Given the description of an element on the screen output the (x, y) to click on. 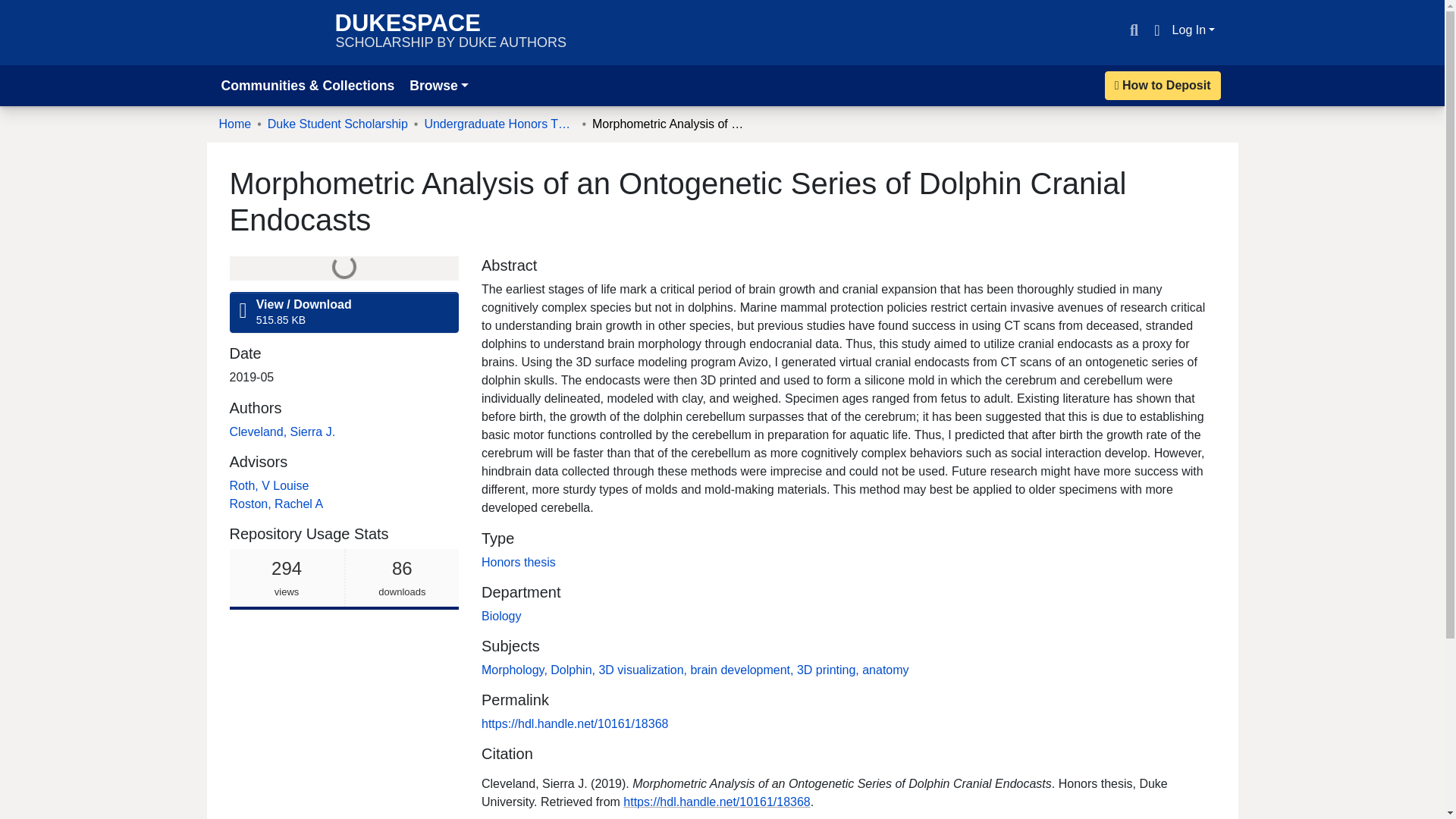
Biology (501, 615)
Duke Student Scholarship (337, 124)
Dolphin, (574, 669)
Log In (1193, 29)
Honors thesis (518, 562)
3D visualization, (644, 669)
Skip to Main Content (18, 9)
Home (343, 578)
Morphology, (234, 124)
